Given the description of an element on the screen output the (x, y) to click on. 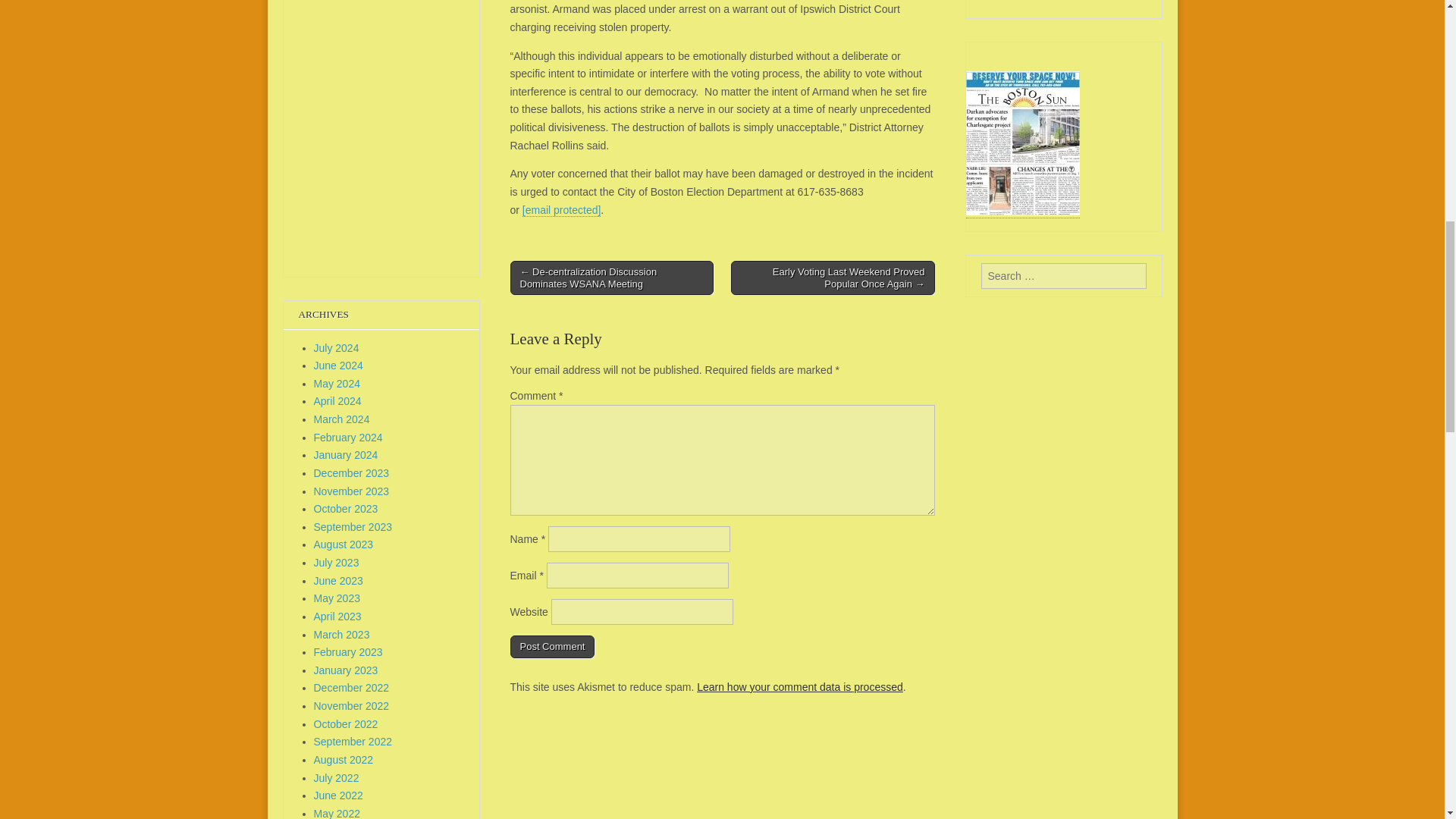
Learn how your comment data is processed (799, 686)
January 2024 (346, 454)
April 2024 (337, 400)
Post Comment (551, 646)
Post Comment (551, 646)
March 2024 (341, 419)
February 2024 (348, 437)
May 2024 (336, 383)
July 2024 (336, 347)
June 2024 (338, 365)
